Given the description of an element on the screen output the (x, y) to click on. 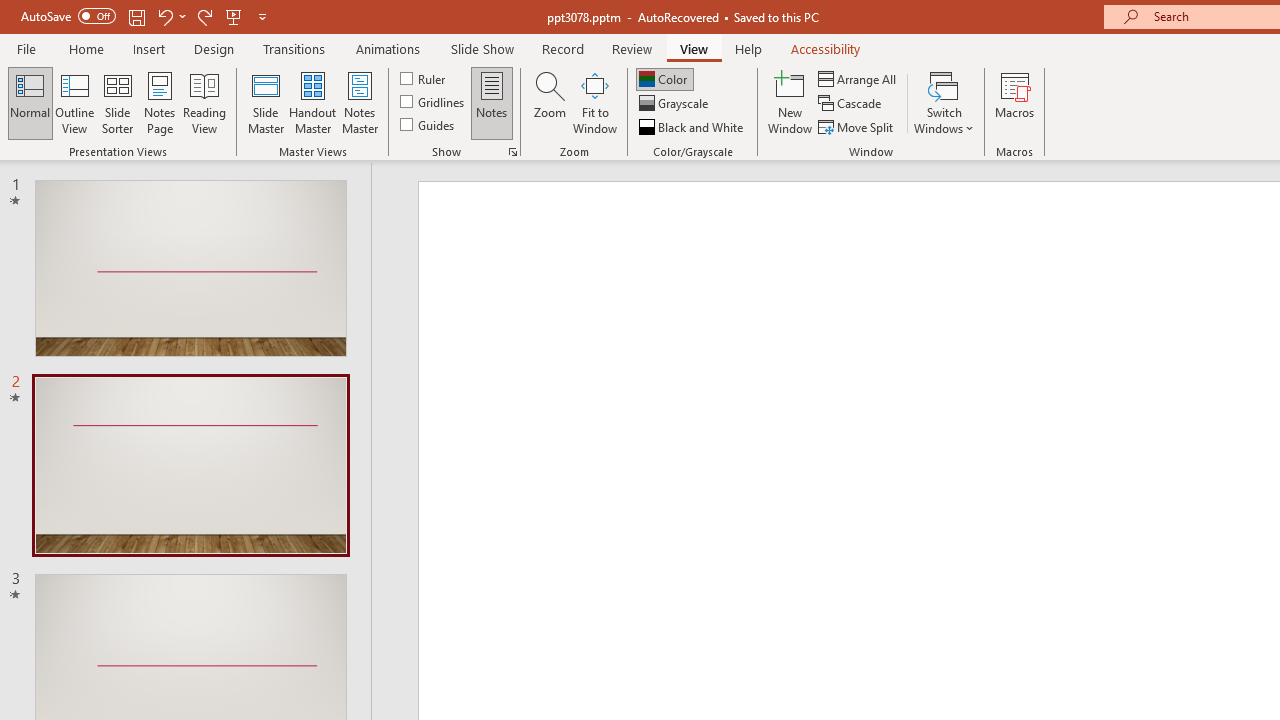
Slide Master (265, 102)
New Window (790, 102)
Arrange All (858, 78)
Handout Master (312, 102)
Grid Settings... (512, 151)
Color (664, 78)
